Given the description of an element on the screen output the (x, y) to click on. 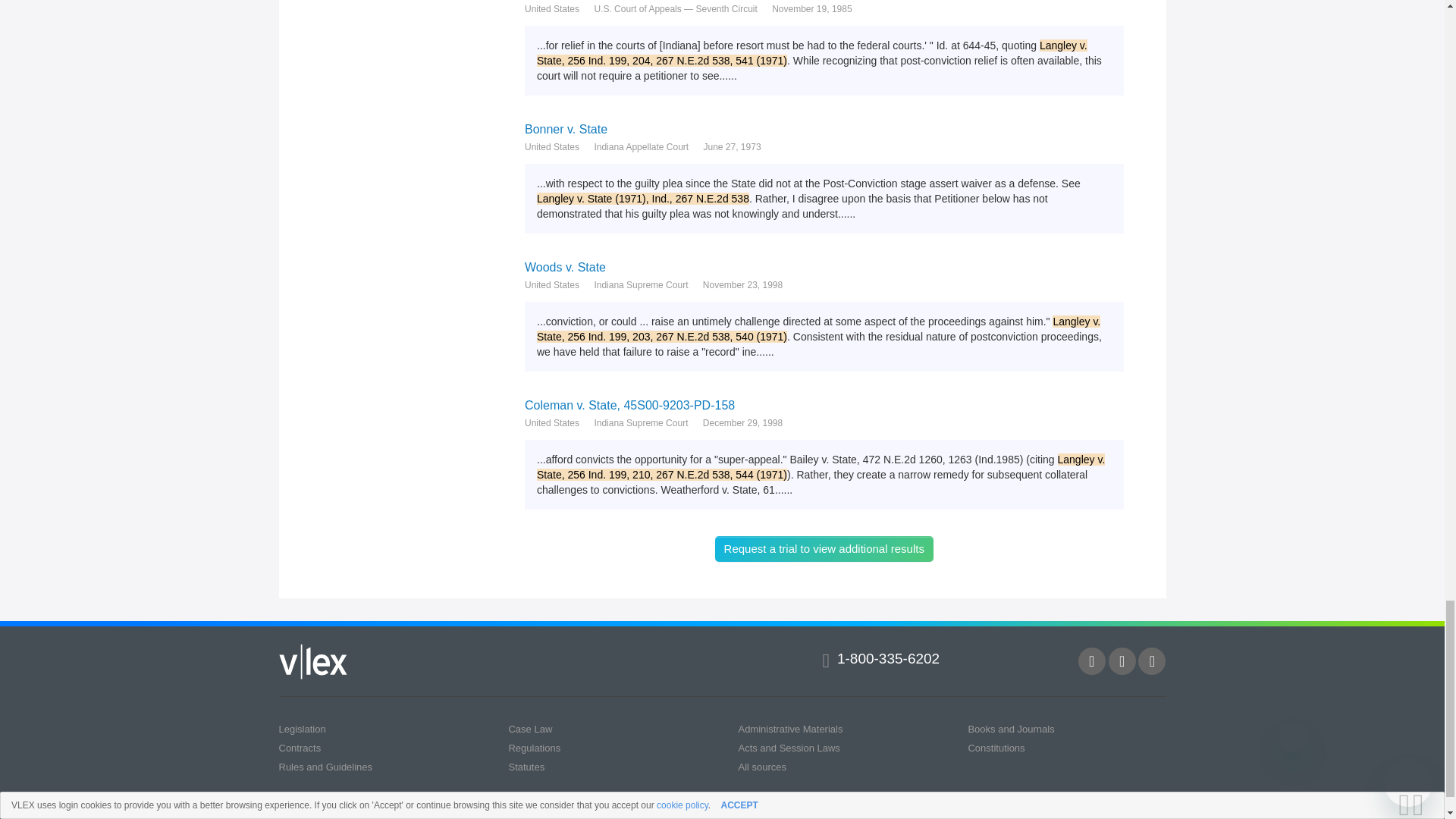
December 29, 1998 (743, 422)
Coleman v. State, 45S00-9203-PD-158 (824, 405)
Bonner v. State (824, 129)
United States (551, 146)
Contracts (300, 747)
November 23, 1998 (743, 284)
Indiana Supreme Court (640, 422)
Legislation (302, 728)
vLex (313, 661)
Indiana Appellate Court (641, 146)
Coleman v. State, 45S00-9203-PD-158 (824, 405)
Legislation (302, 728)
United States (551, 284)
Bonner v. State (824, 129)
Indiana Supreme Court (640, 284)
